Given the description of an element on the screen output the (x, y) to click on. 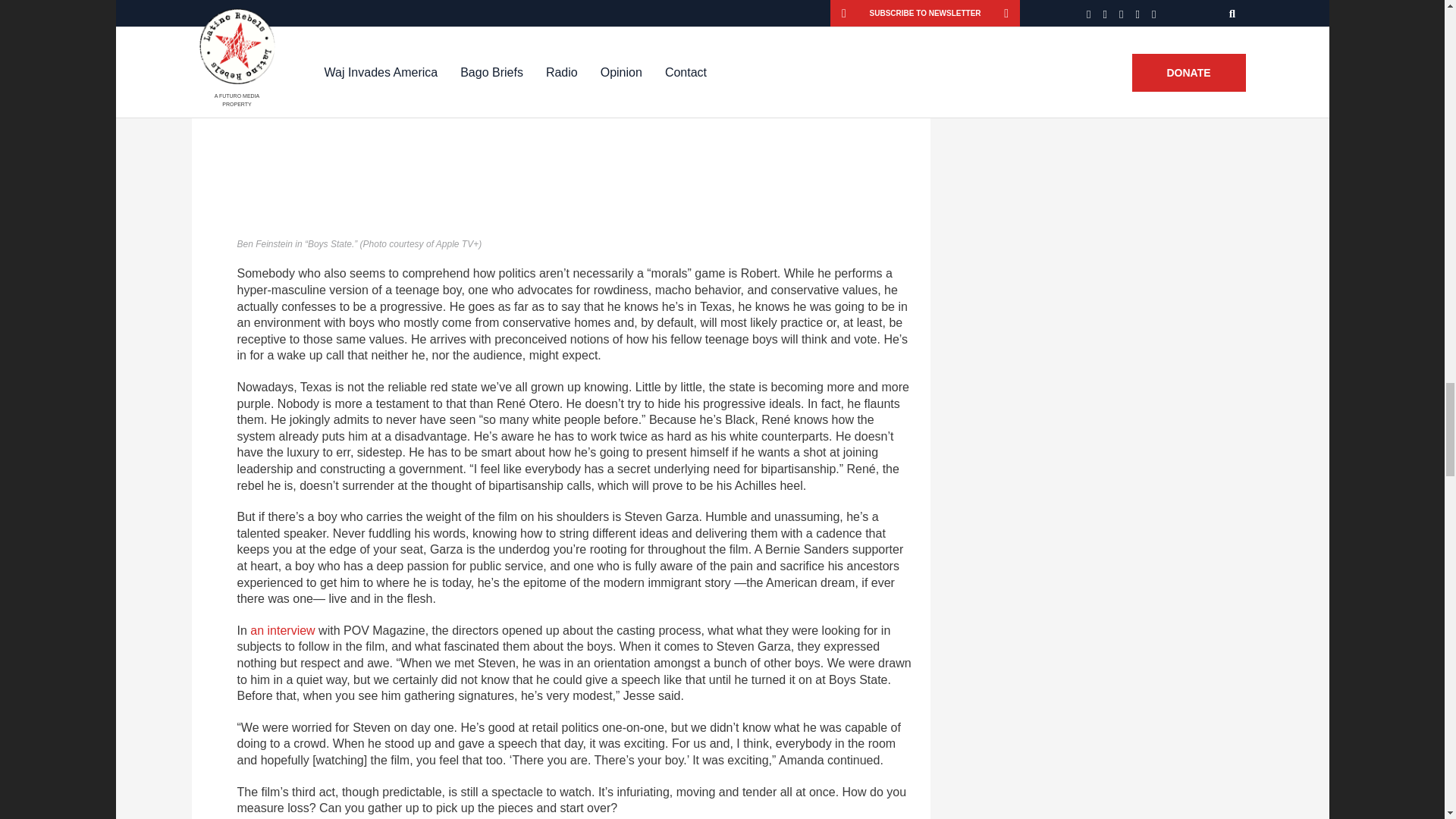
an interview (282, 630)
